Given the description of an element on the screen output the (x, y) to click on. 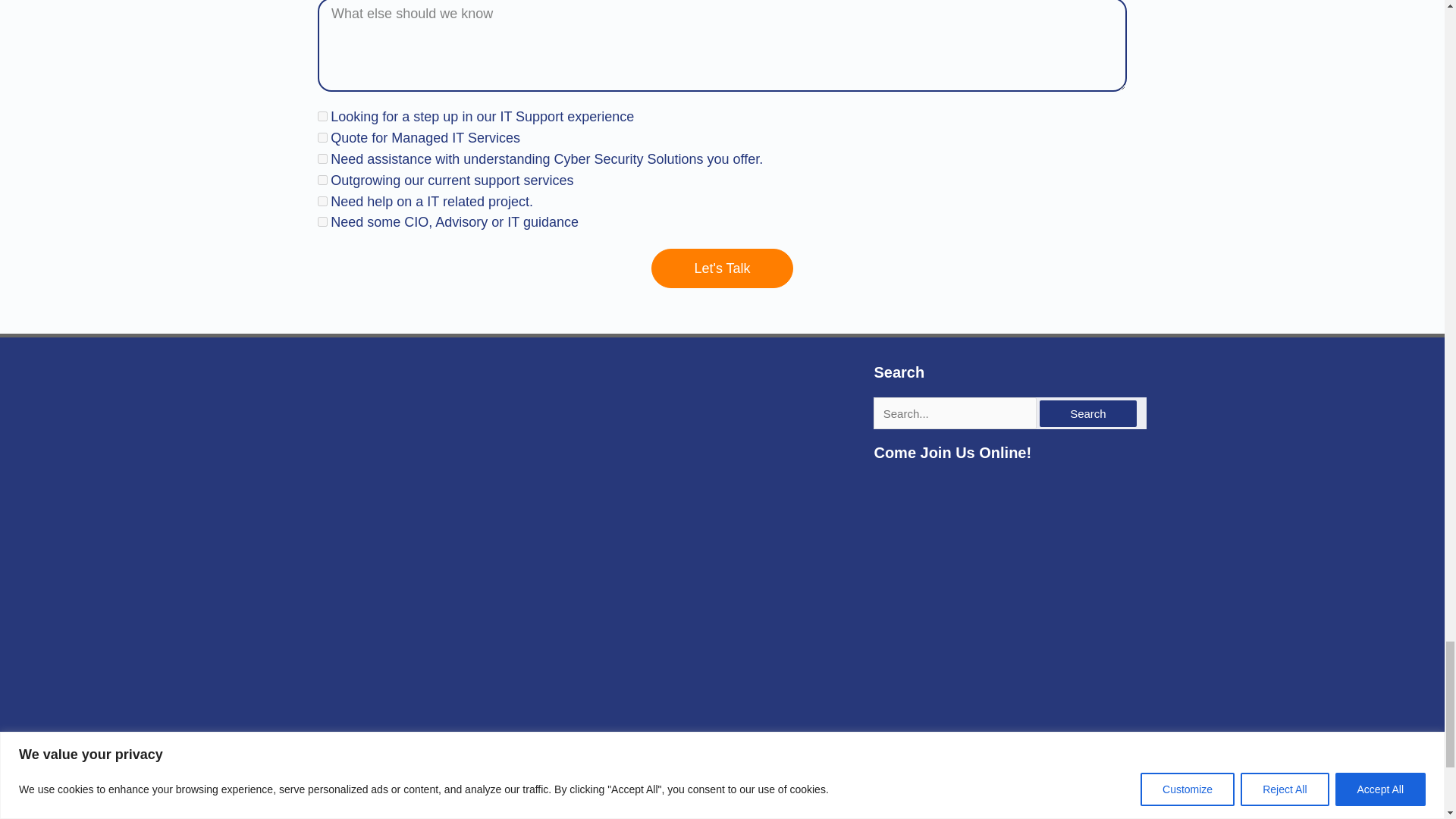
Need some CIO, Advisory or IT guidance (322, 221)
Outgrowing our current support services (322, 180)
Quote for Managed IT Services (322, 137)
Need help on a IT related project. (322, 201)
Search (1088, 413)
Search (1088, 413)
Looking for a step up in our IT Support experience (322, 116)
